Given the description of an element on the screen output the (x, y) to click on. 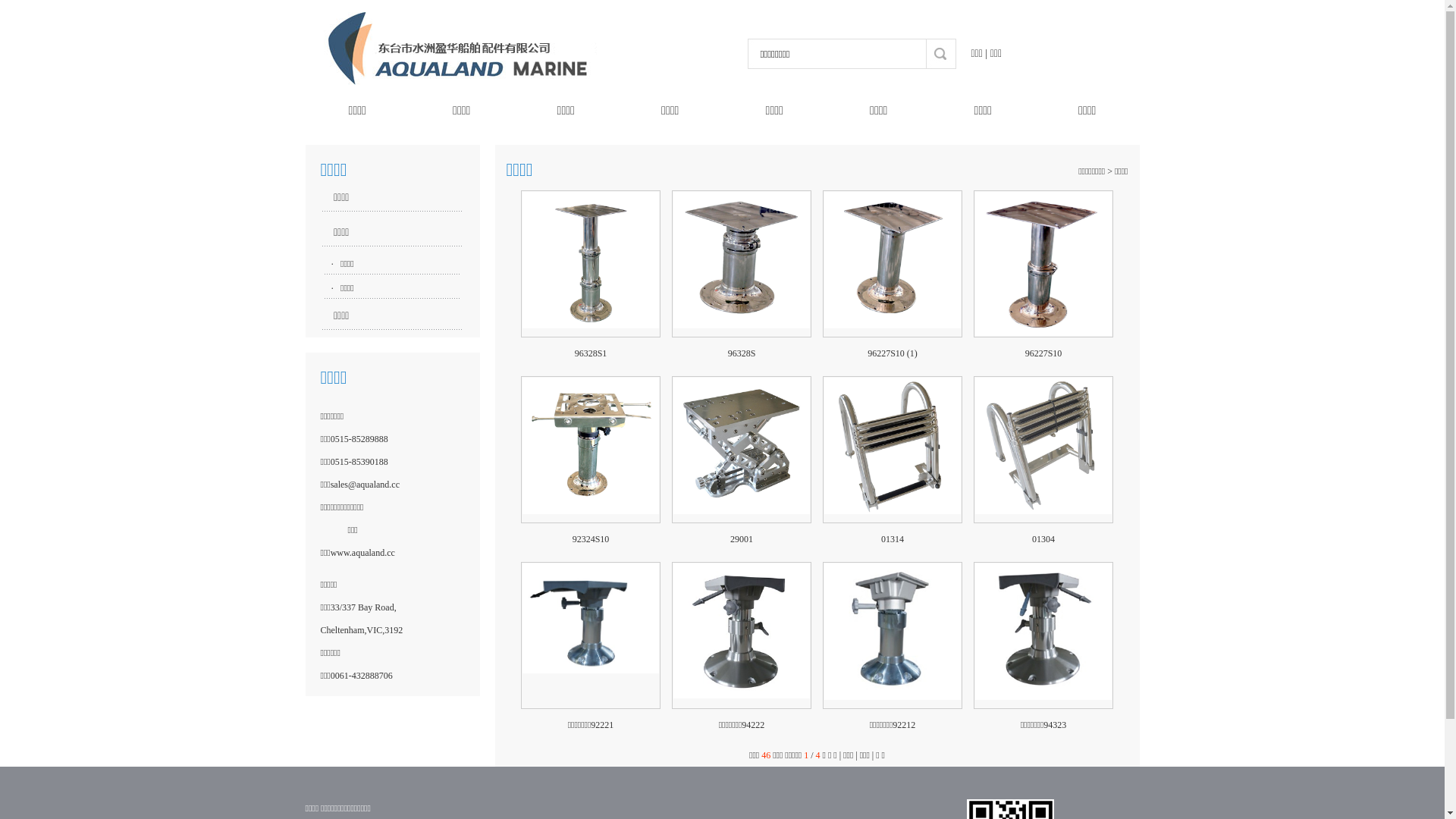
96227S10 (1) Element type: hover (892, 263)
96328S1 Element type: hover (590, 263)
01304 Element type: hover (1043, 449)
01314 Element type: text (892, 538)
96328S Element type: hover (741, 263)
96328S1 Element type: text (590, 353)
01304 Element type: text (1043, 538)
sales@aqualand.cc Element type: text (364, 484)
92324S10 Element type: hover (590, 449)
29001 Element type: text (741, 538)
29001 Element type: hover (741, 449)
92324S10 Element type: text (590, 538)
96227S10 (1) Element type: text (892, 353)
01314 Element type: hover (892, 449)
96328S Element type: text (742, 353)
96227S10 Element type: hover (1043, 263)
96227S10 Element type: text (1043, 353)
